Given the description of an element on the screen output the (x, y) to click on. 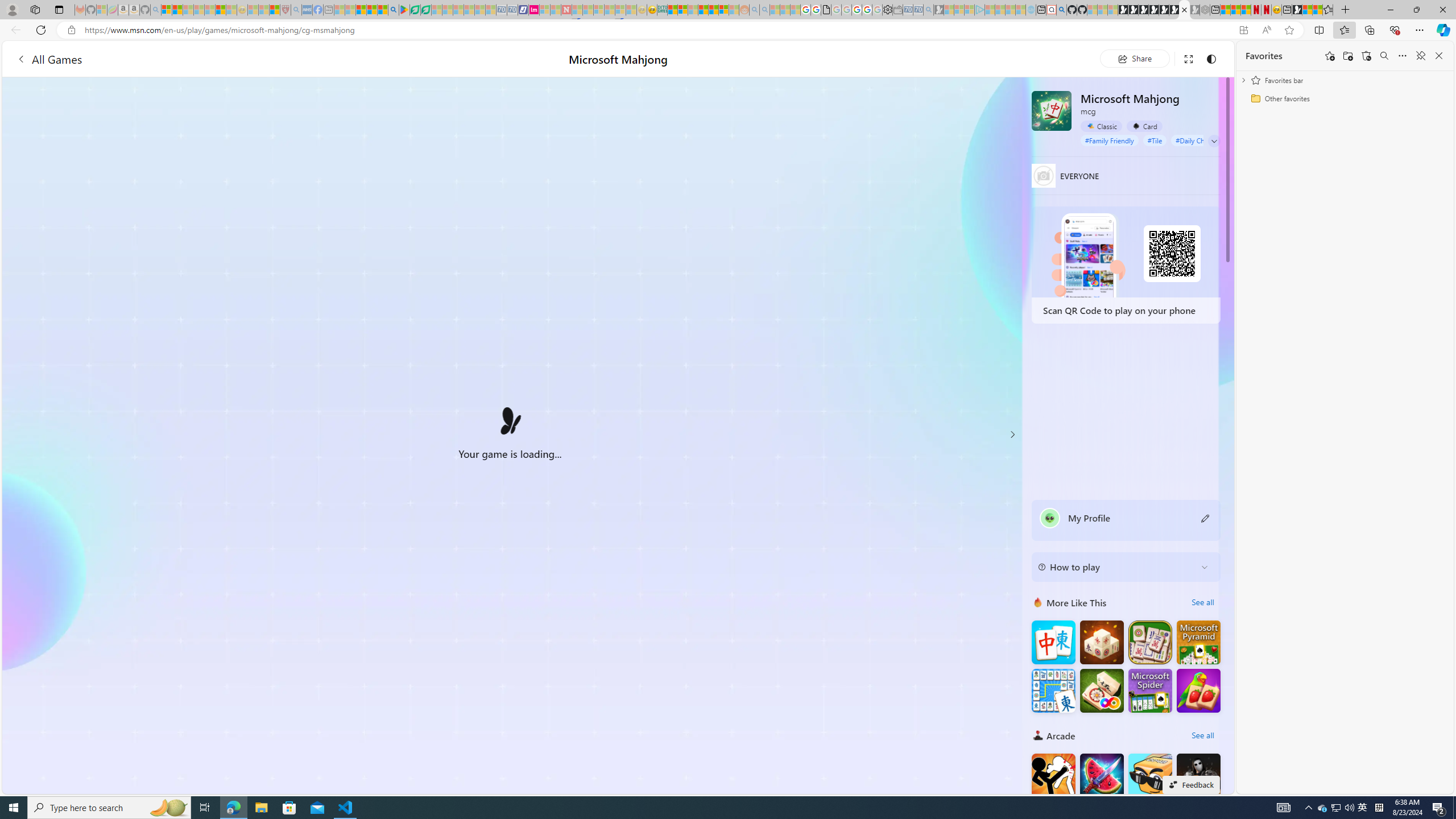
#Daily Challenge (1200, 140)
Classic (1101, 126)
#Family Friendly (1109, 140)
Bluey: Let's Play! - Apps on Google Play (404, 9)
Jobs - lastminute.com Investor Portal (534, 9)
